Given the description of an element on the screen output the (x, y) to click on. 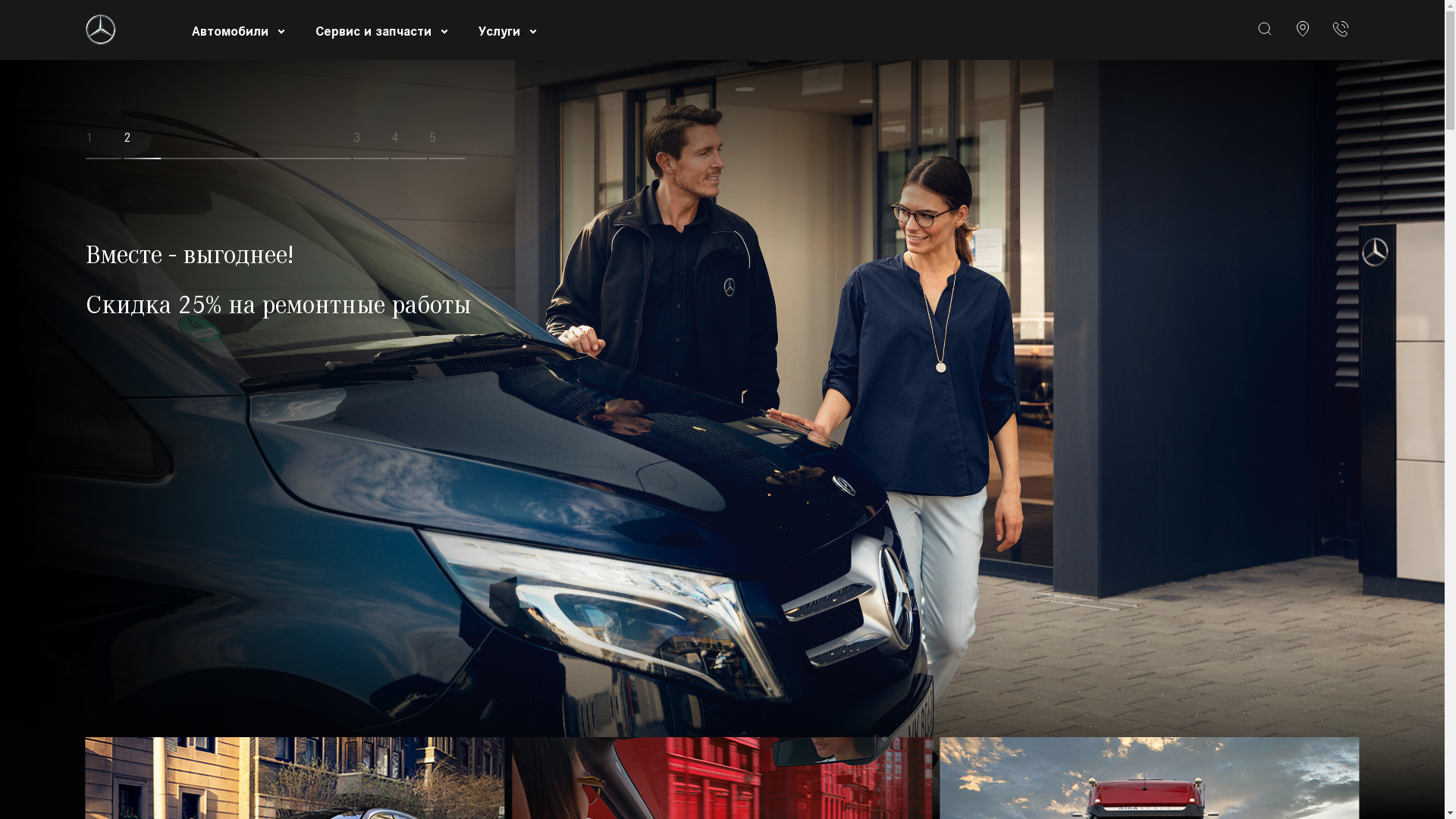
4 Element type: text (408, 143)
5 Element type: text (446, 143)
2 Element type: text (333, 143)
3 Element type: text (371, 143)
1 Element type: text (198, 143)
